Given the description of an element on the screen output the (x, y) to click on. 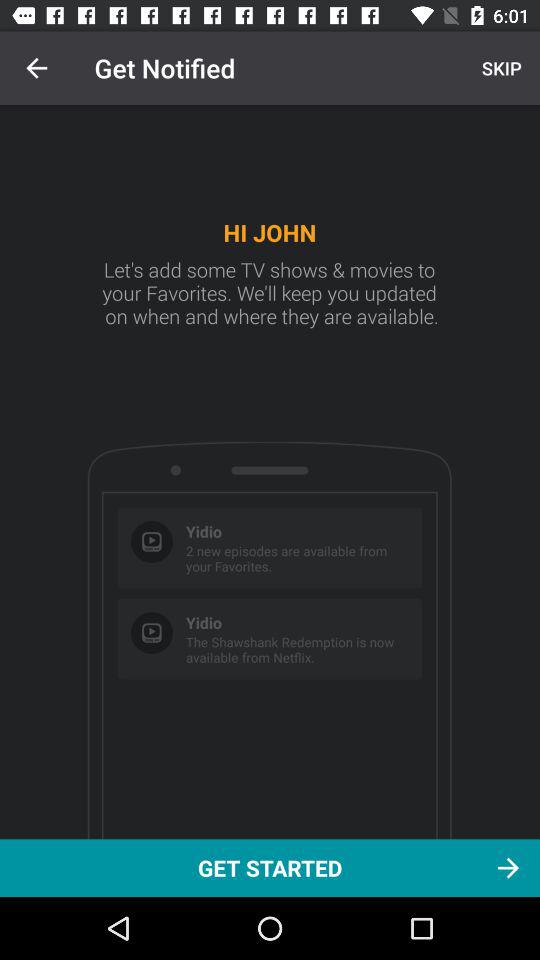
turn off item above get started (36, 68)
